Given the description of an element on the screen output the (x, y) to click on. 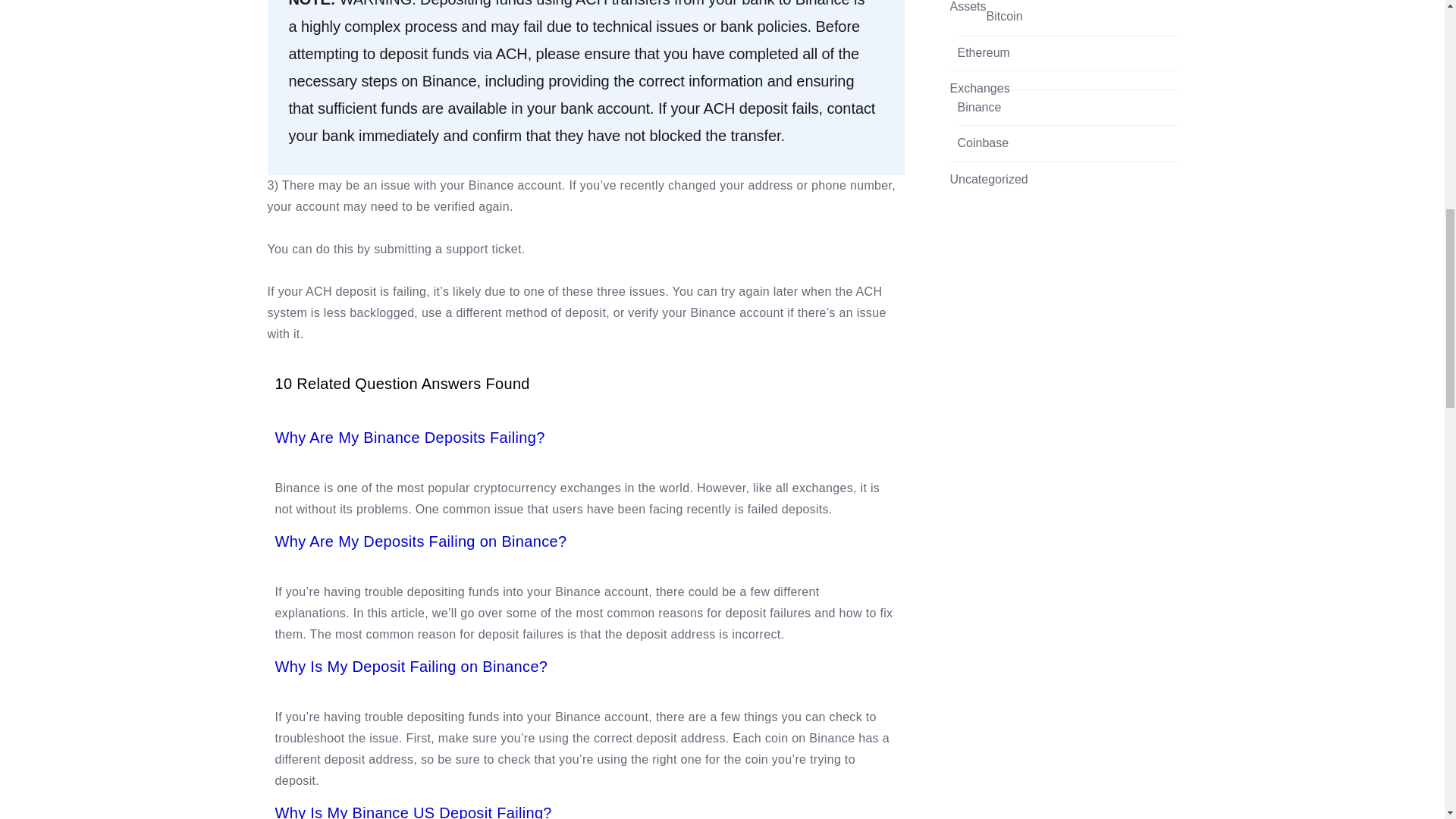
Binance (978, 107)
Why Is My Binance US Deposit Failing? (413, 811)
Why Are My Deposits Failing on Binance? (420, 541)
Bitcoin (1005, 16)
Exchanges (979, 88)
Ethereum (982, 53)
Assets (967, 7)
Why Are My Binance Deposits Failing? (409, 437)
Why Is My Deposit Failing on Binance? (411, 666)
